Given the description of an element on the screen output the (x, y) to click on. 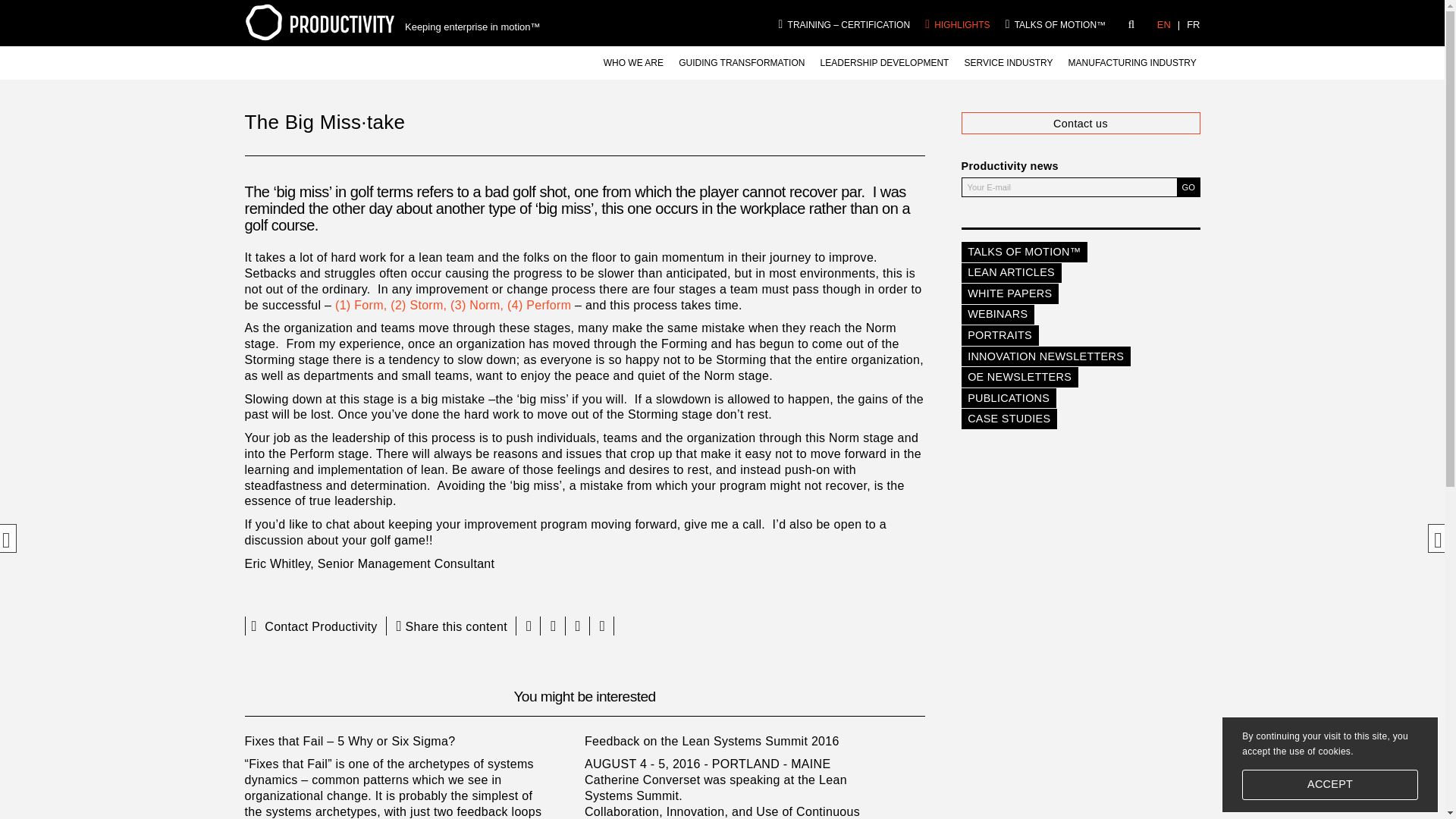
ACCEPT (1329, 784)
Go (1187, 187)
